Given the description of an element on the screen output the (x, y) to click on. 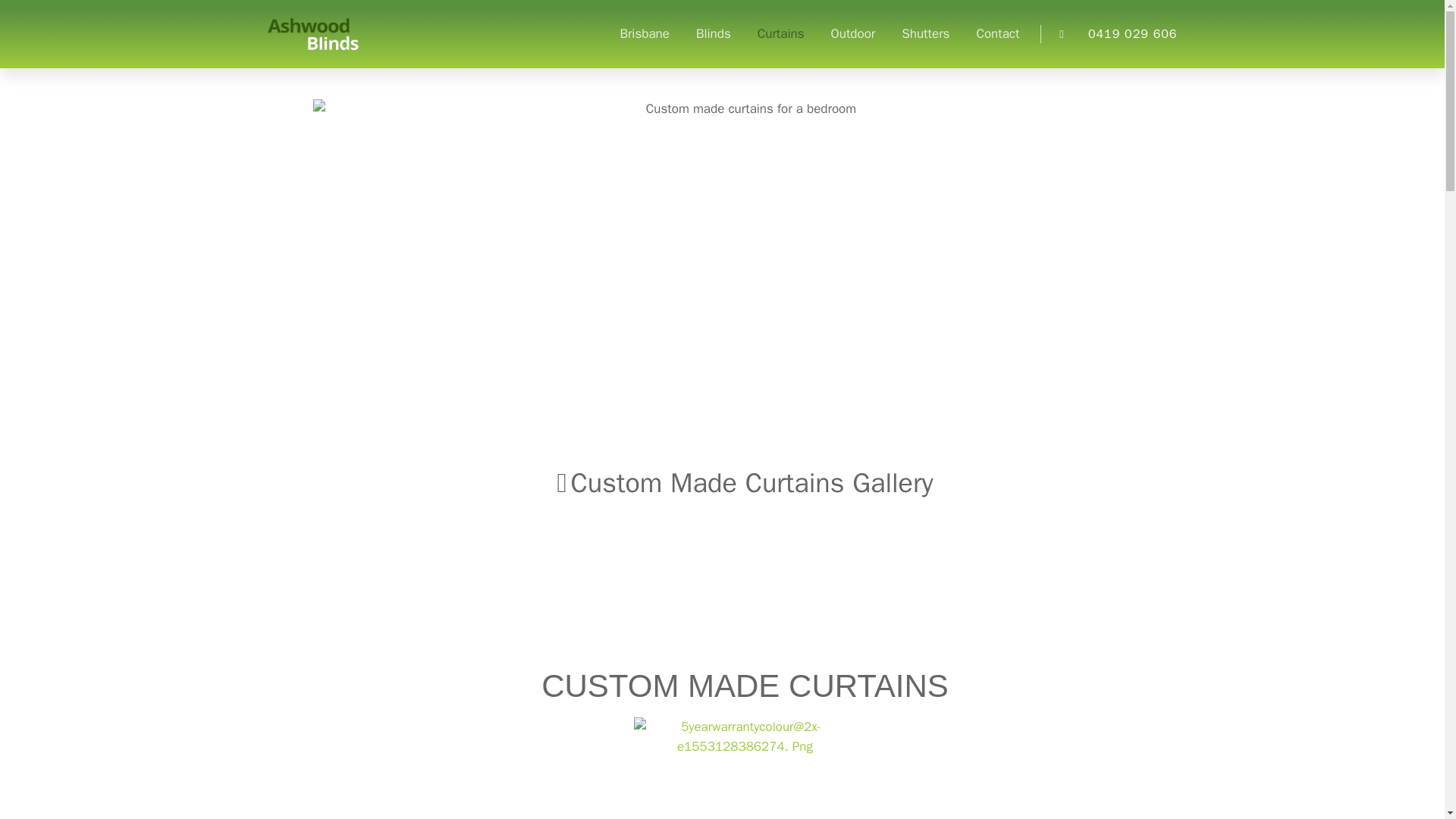
0419 029 606 (1108, 34)
